Given the description of an element on the screen output the (x, y) to click on. 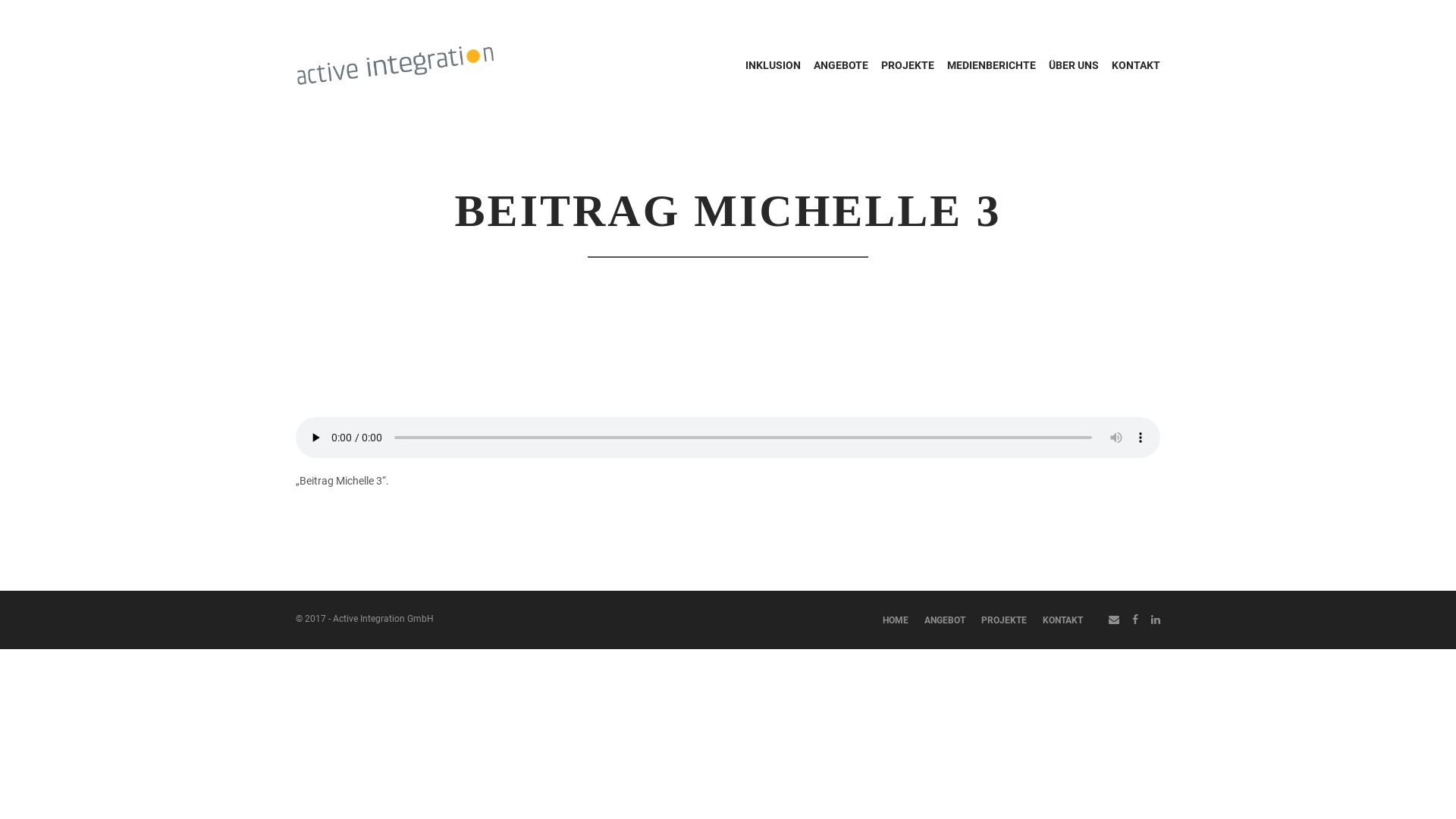
HOME Element type: text (895, 620)
INKLUSION Element type: text (772, 65)
ANGEBOTE Element type: text (840, 65)
PROJEKTE Element type: text (1003, 620)
KONTAKT Element type: text (1062, 620)
KONTAKT Element type: text (1135, 65)
PROJEKTE Element type: text (907, 65)
MEDIENBERICHTE Element type: text (991, 65)
ANGEBOT Element type: text (944, 620)
